Given the description of an element on the screen output the (x, y) to click on. 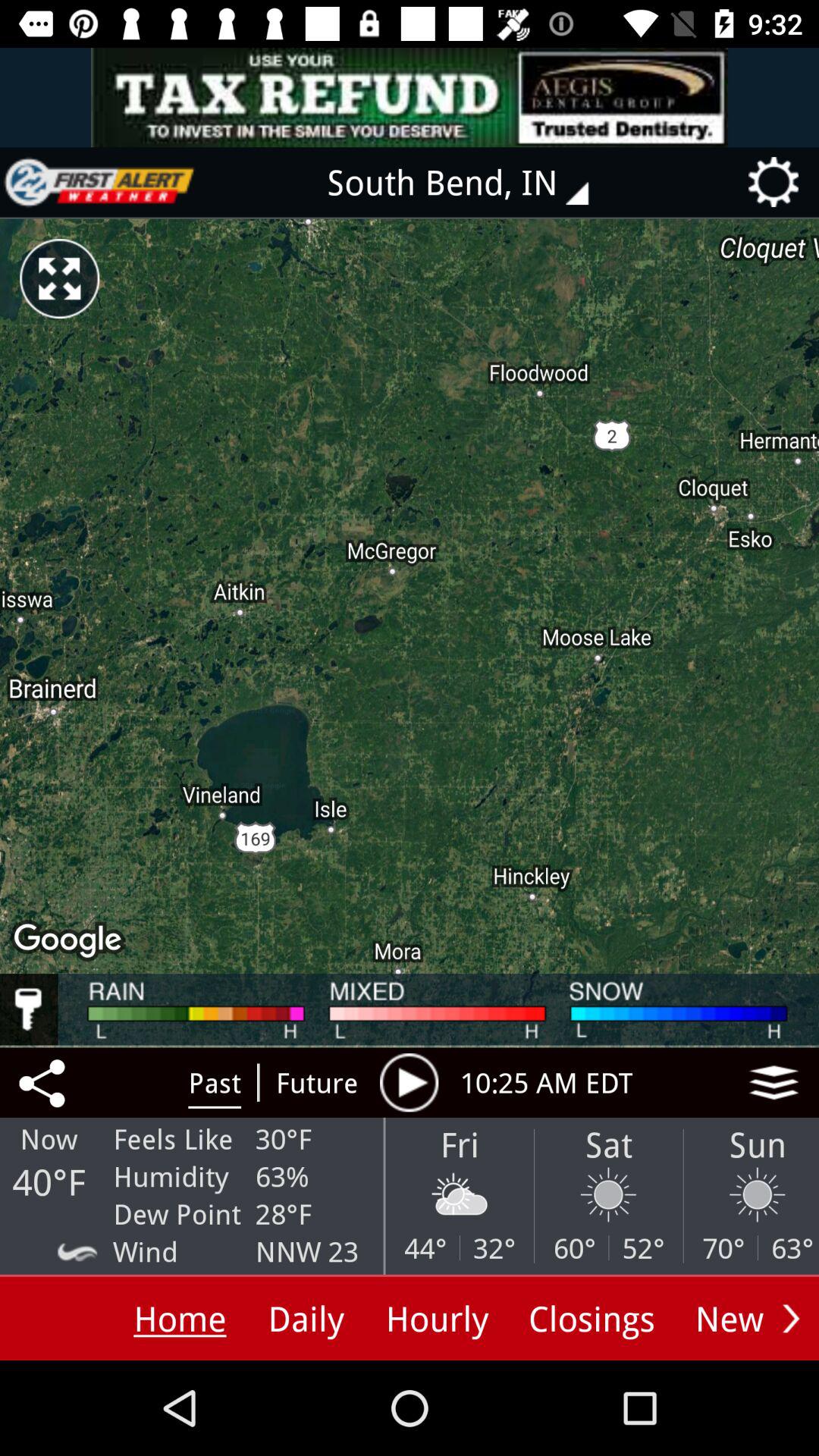
click for more (774, 1082)
